Given the description of an element on the screen output the (x, y) to click on. 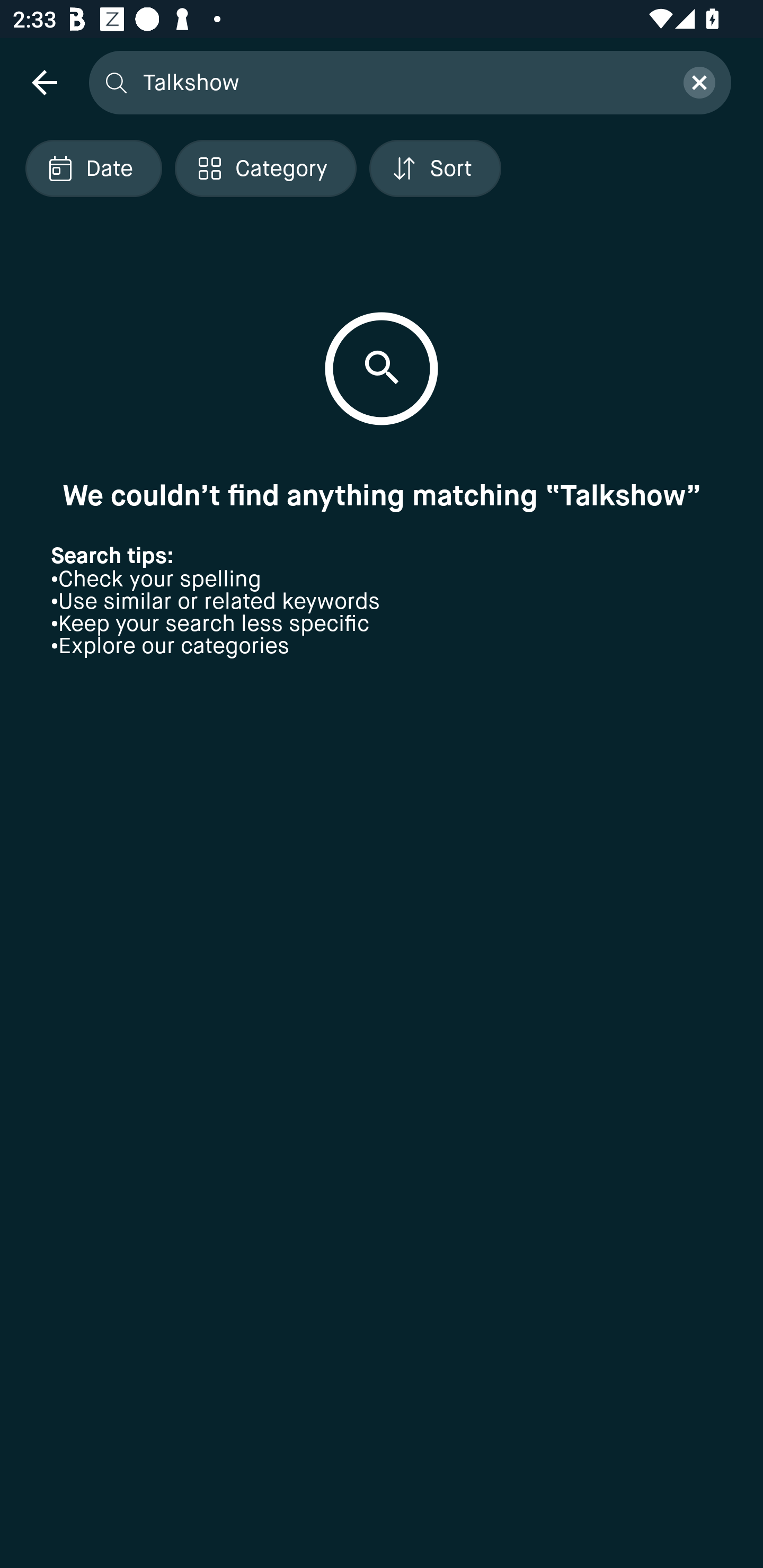
navigation icon (44, 81)
Talkshow (402, 81)
Localized description Date (93, 168)
Localized description Category (265, 168)
Localized description Sort (435, 168)
We couldn’t find anything matching “Talkshow” (381, 495)
